Given the description of an element on the screen output the (x, y) to click on. 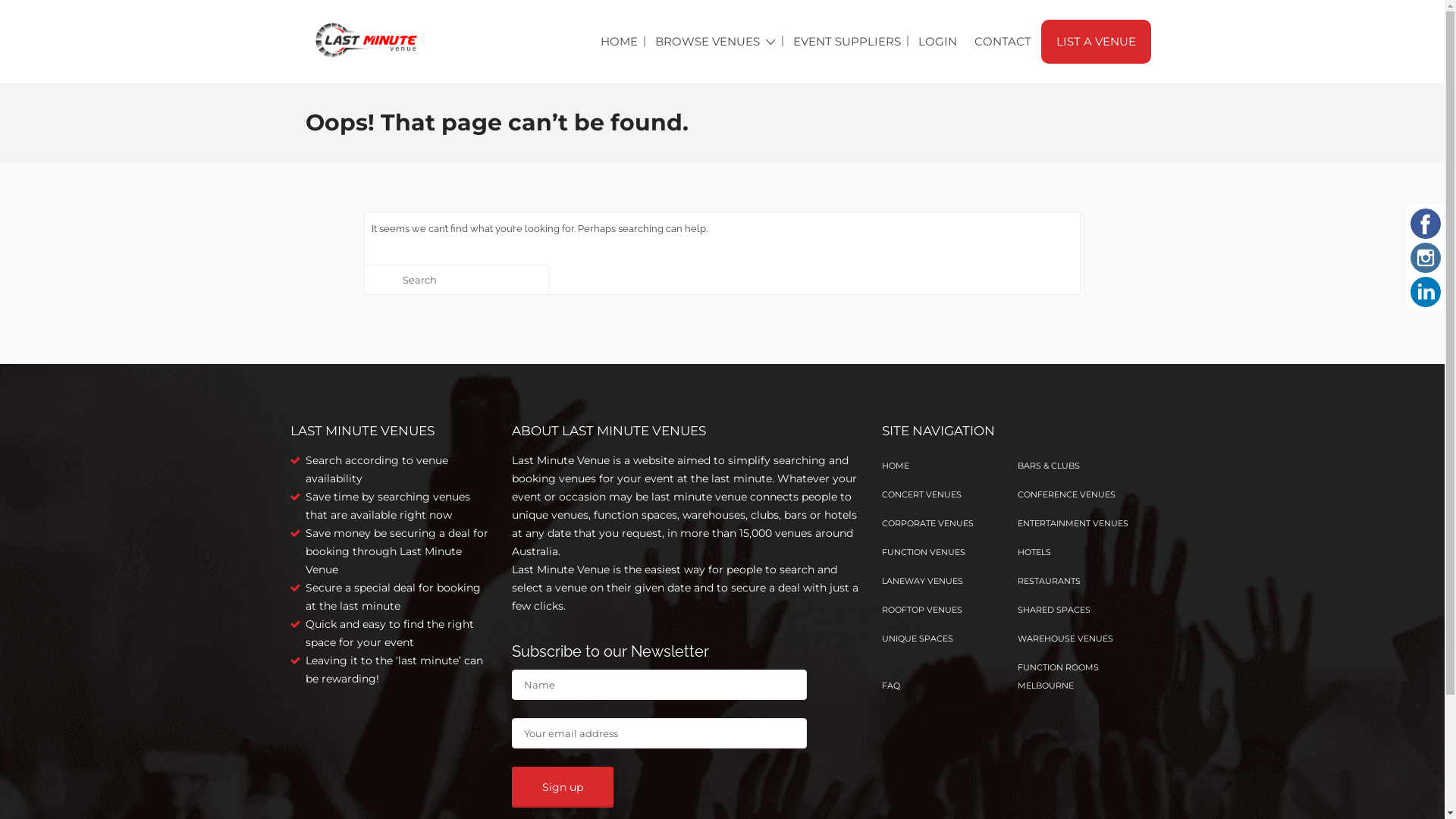
HOME Element type: text (618, 41)
FUNCTION VENUES Element type: text (922, 551)
HOME Element type: text (894, 465)
Search for: Element type: hover (456, 279)
LANEWAY VENUES Element type: text (921, 580)
LIST A VENUE Element type: text (1095, 41)
BARS & CLUBS Element type: text (1048, 465)
WAREHOUSE VENUES Element type: text (1065, 638)
ENTERTAINMENT VENUES Element type: text (1072, 522)
Sign up Element type: text (562, 786)
RESTAURANTS Element type: text (1048, 580)
EVENT SUPPLIERS Element type: text (846, 41)
HOTELS Element type: text (1034, 551)
CONTACT Element type: text (1001, 41)
FAQ Element type: text (890, 685)
ROOFTOP VENUES Element type: text (921, 609)
UNIQUE SPACES Element type: text (916, 638)
LOGIN Element type: text (936, 41)
SHARED SPACES Element type: text (1053, 609)
BROWSE VENUES Element type: text (707, 41)
FUNCTION ROOMS MELBOURNE Element type: text (1057, 676)
CORPORATE VENUES Element type: text (926, 522)
CONCERT VENUES Element type: text (920, 494)
CONFERENCE VENUES Element type: text (1066, 494)
